Given the description of an element on the screen output the (x, y) to click on. 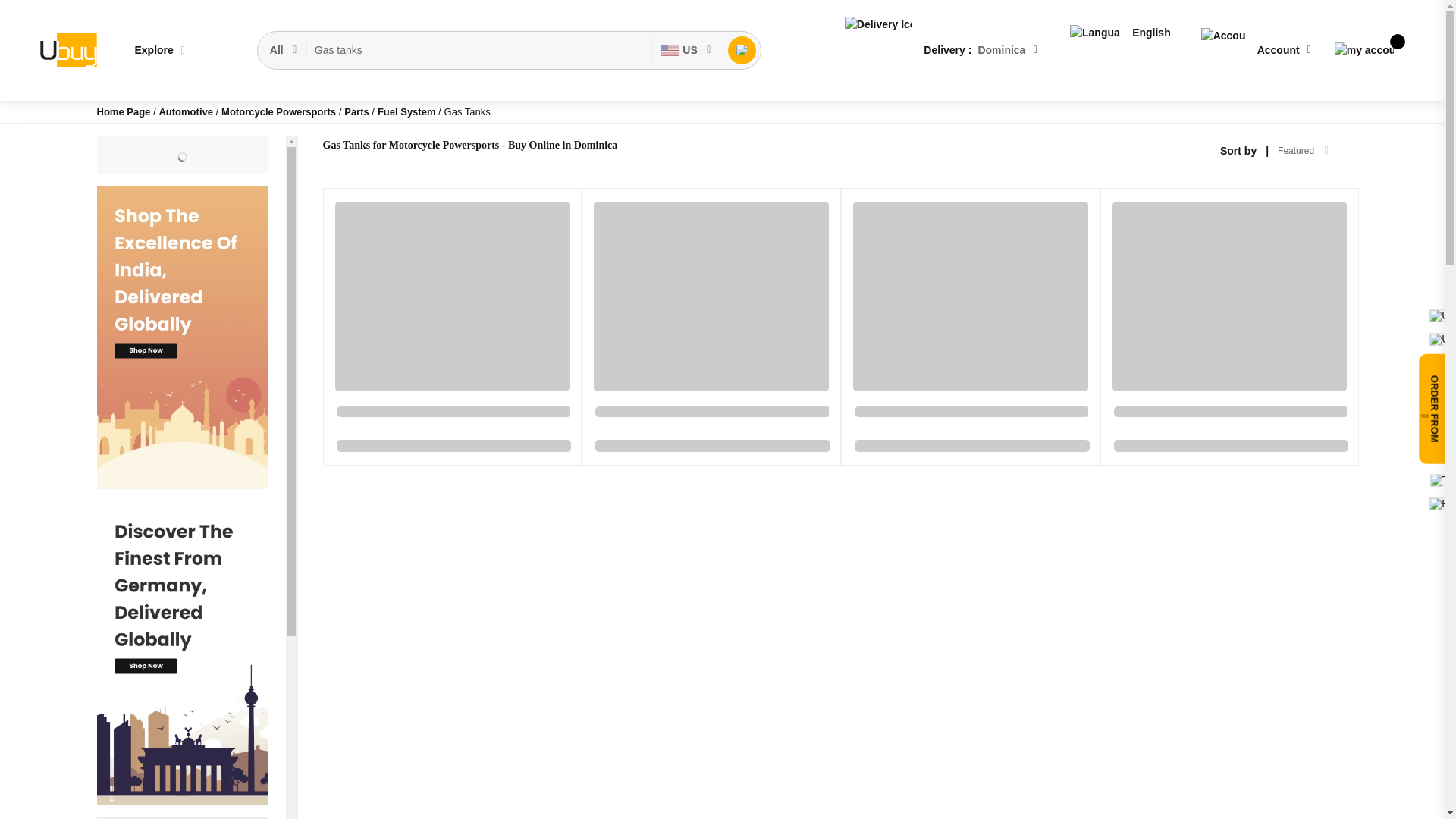
Gas tanks (479, 49)
All (283, 50)
Automotive (186, 111)
Gas tanks (479, 49)
US (685, 50)
Home Page (124, 111)
Home Page (124, 111)
Cart (1364, 49)
Automotive (186, 111)
Ubuy (67, 50)
